Given the description of an element on the screen output the (x, y) to click on. 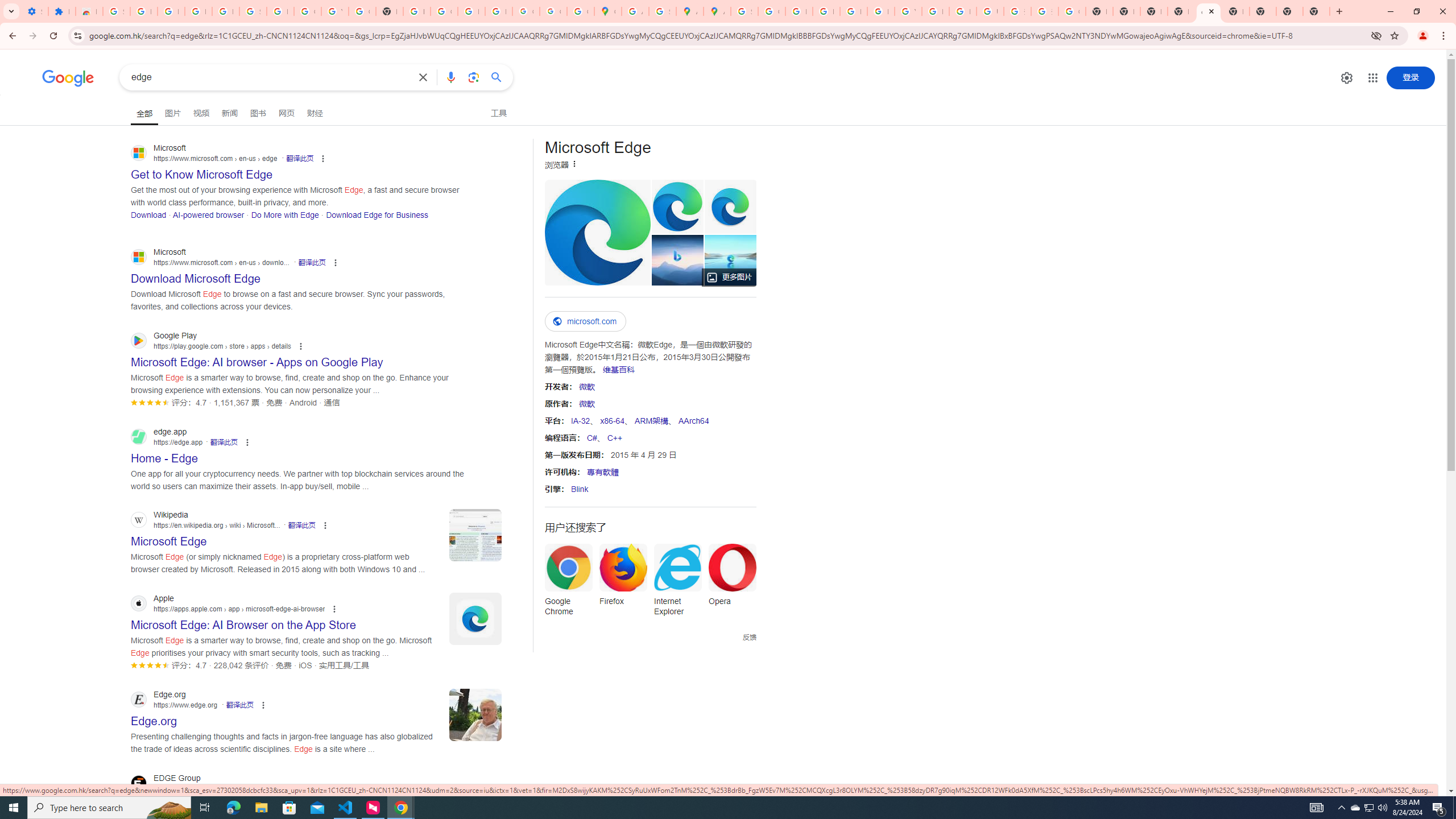
C# (591, 437)
